Given the description of an element on the screen output the (x, y) to click on. 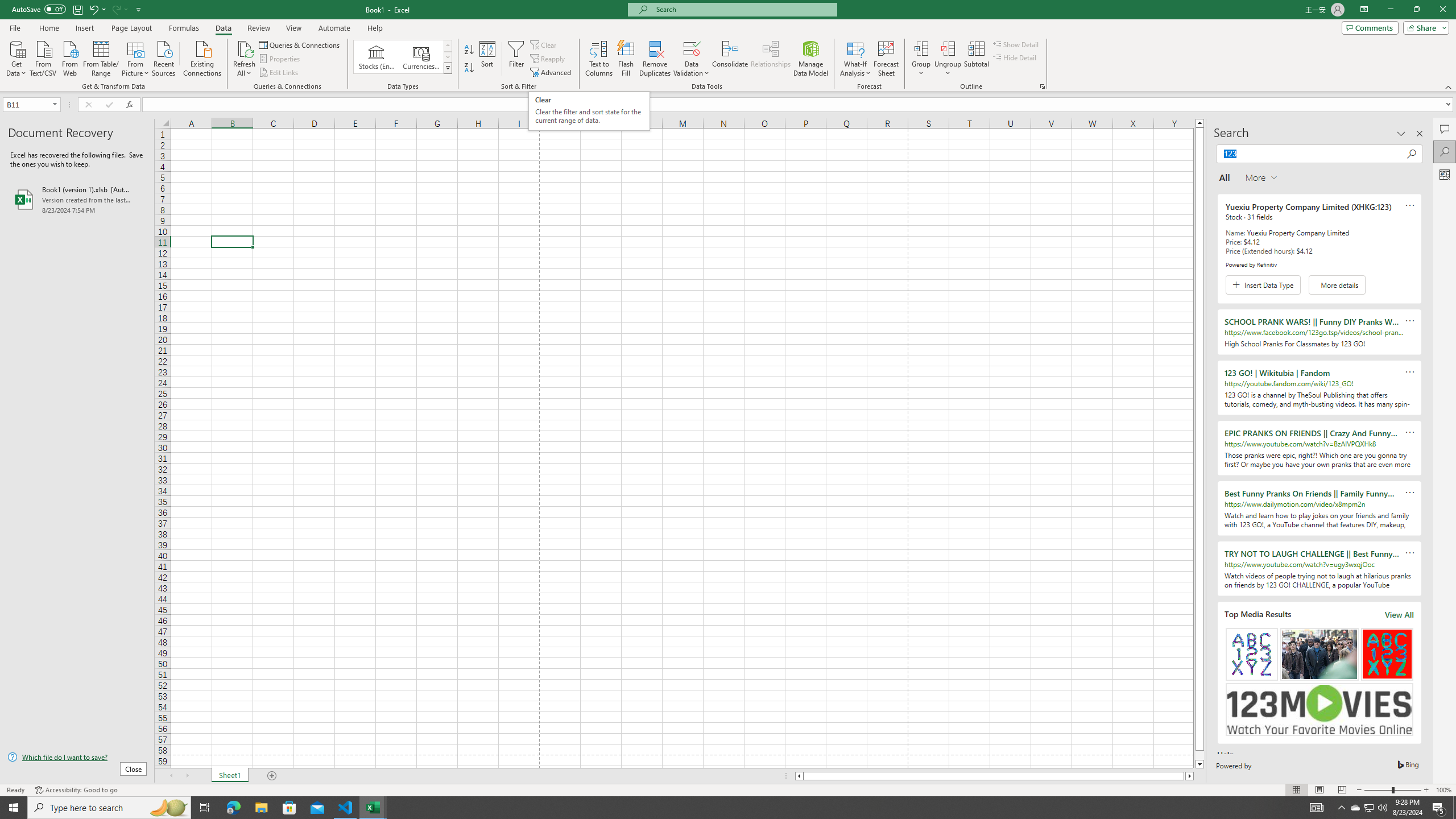
Data Types (448, 67)
Edit Links (279, 72)
